Given the description of an element on the screen output the (x, y) to click on. 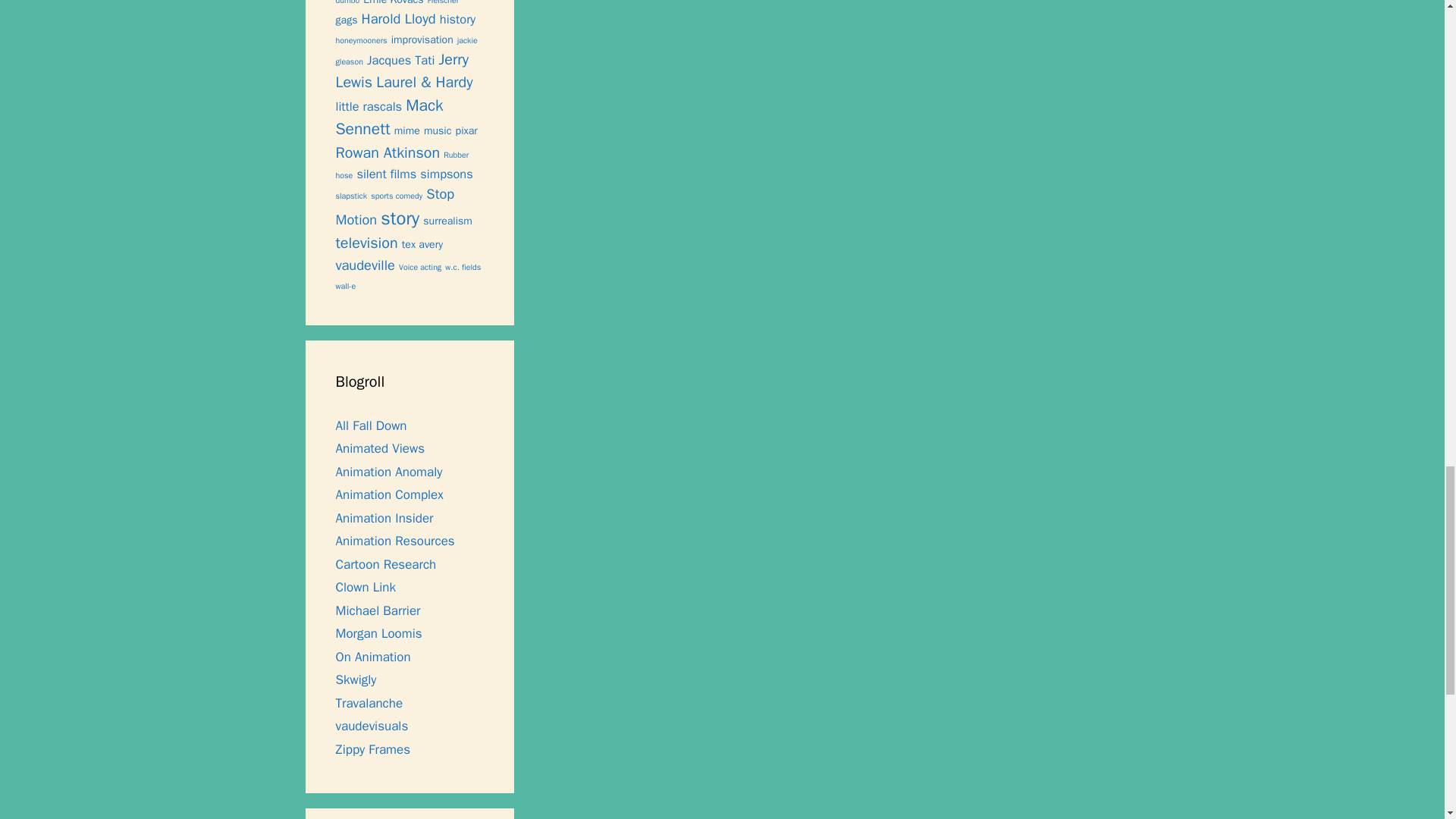
Ernie Kovacs (392, 2)
gags (345, 19)
dumbo (346, 2)
Photos and videos of eccentric variety. (370, 725)
Stand up guy (378, 633)
Fleischer (444, 2)
honeymooners (360, 40)
improvisation (421, 38)
critical, historical, and academic (388, 494)
Blog from author John Towsen (370, 425)
Animation interviews (383, 518)
jackie gleason (405, 51)
Harold Lloyd (398, 18)
history (457, 19)
Daily musings from the one and only. (388, 471)
